Given the description of an element on the screen output the (x, y) to click on. 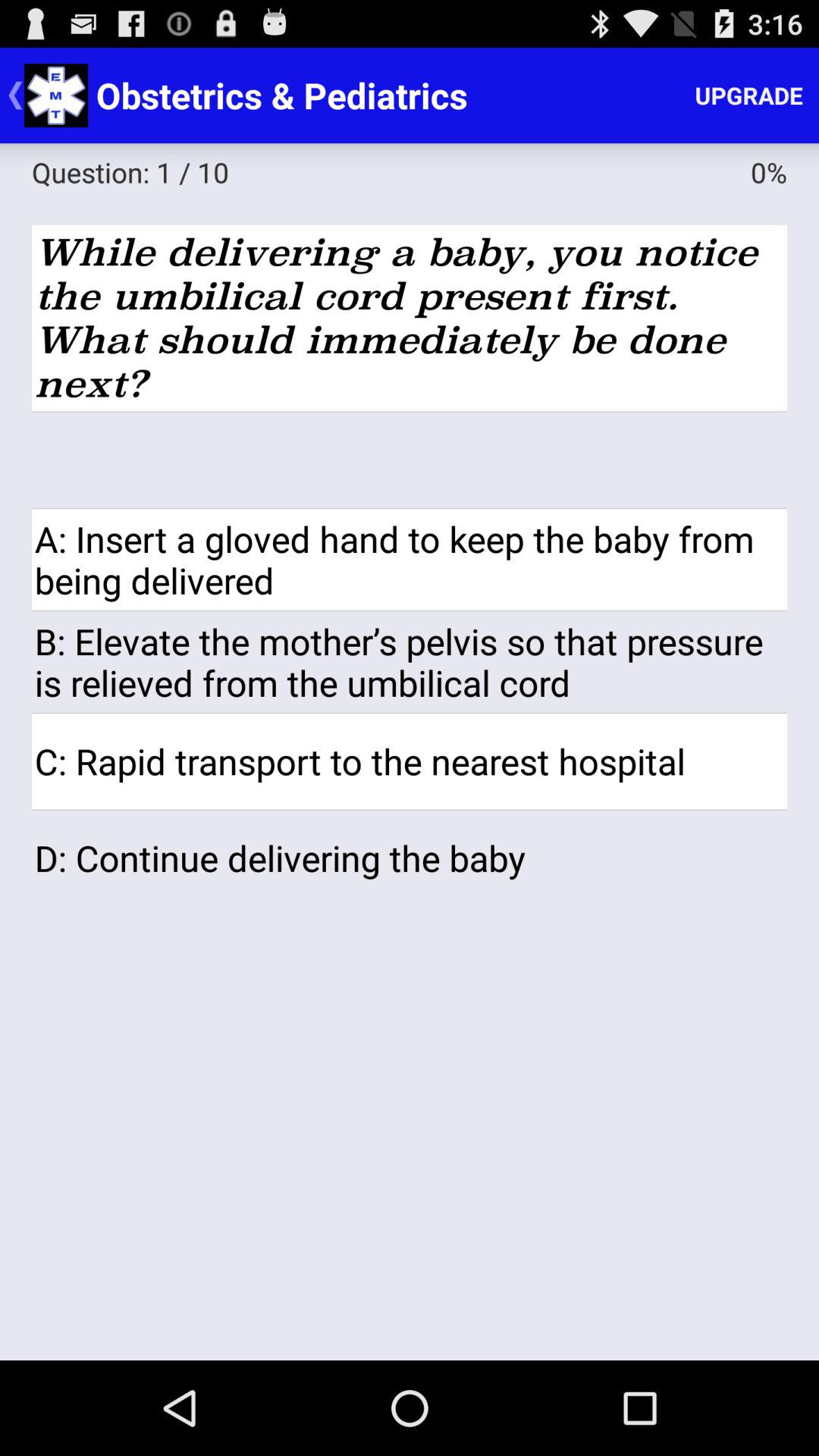
launch c rapid transport item (409, 761)
